Given the description of an element on the screen output the (x, y) to click on. 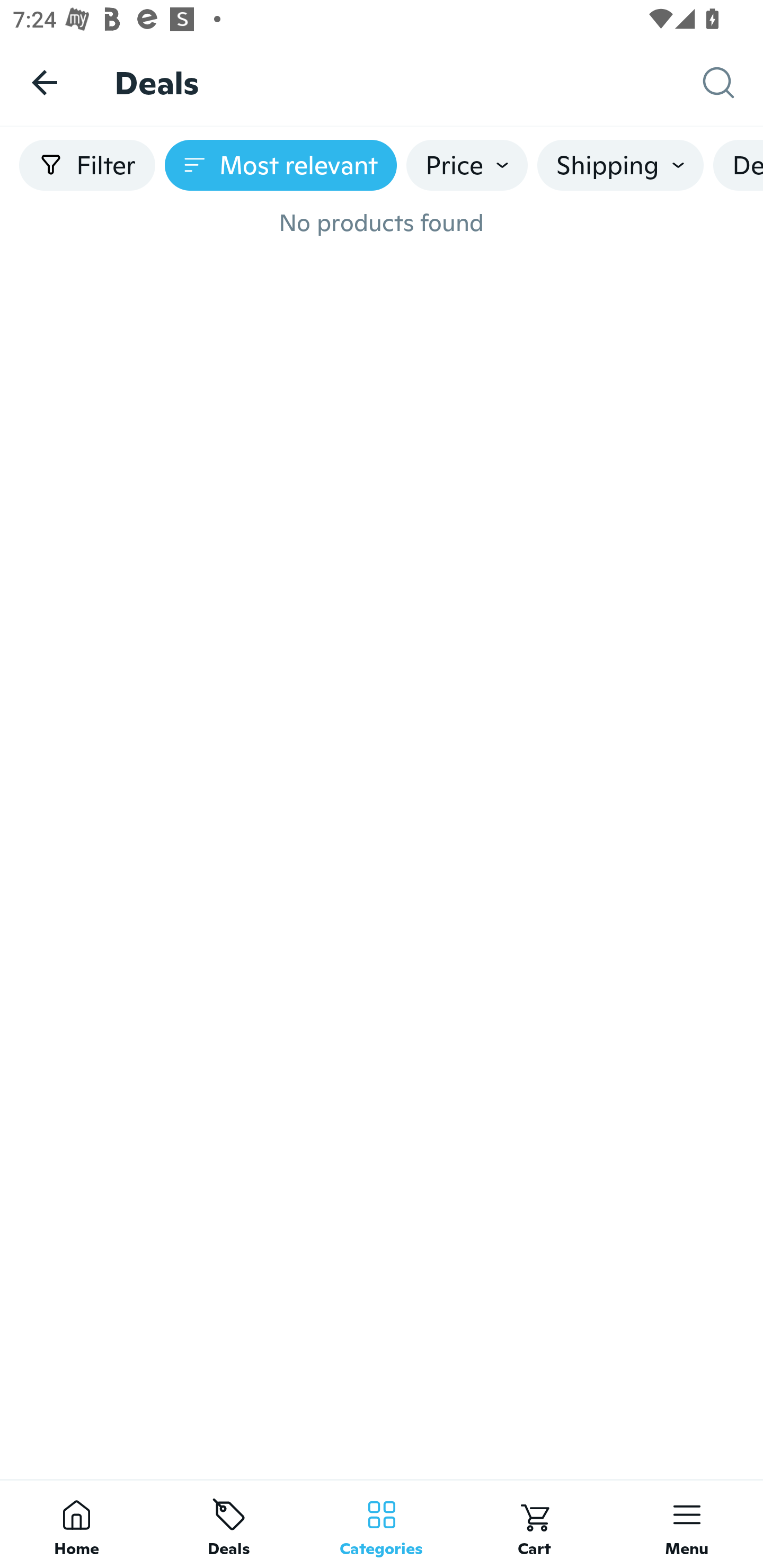
Navigate up (44, 82)
Search (732, 82)
Filter (86, 165)
Most relevant (280, 165)
Price (466, 165)
Shipping (620, 165)
Home (76, 1523)
Deals (228, 1523)
Categories (381, 1523)
Cart (533, 1523)
Menu (686, 1523)
